Given the description of an element on the screen output the (x, y) to click on. 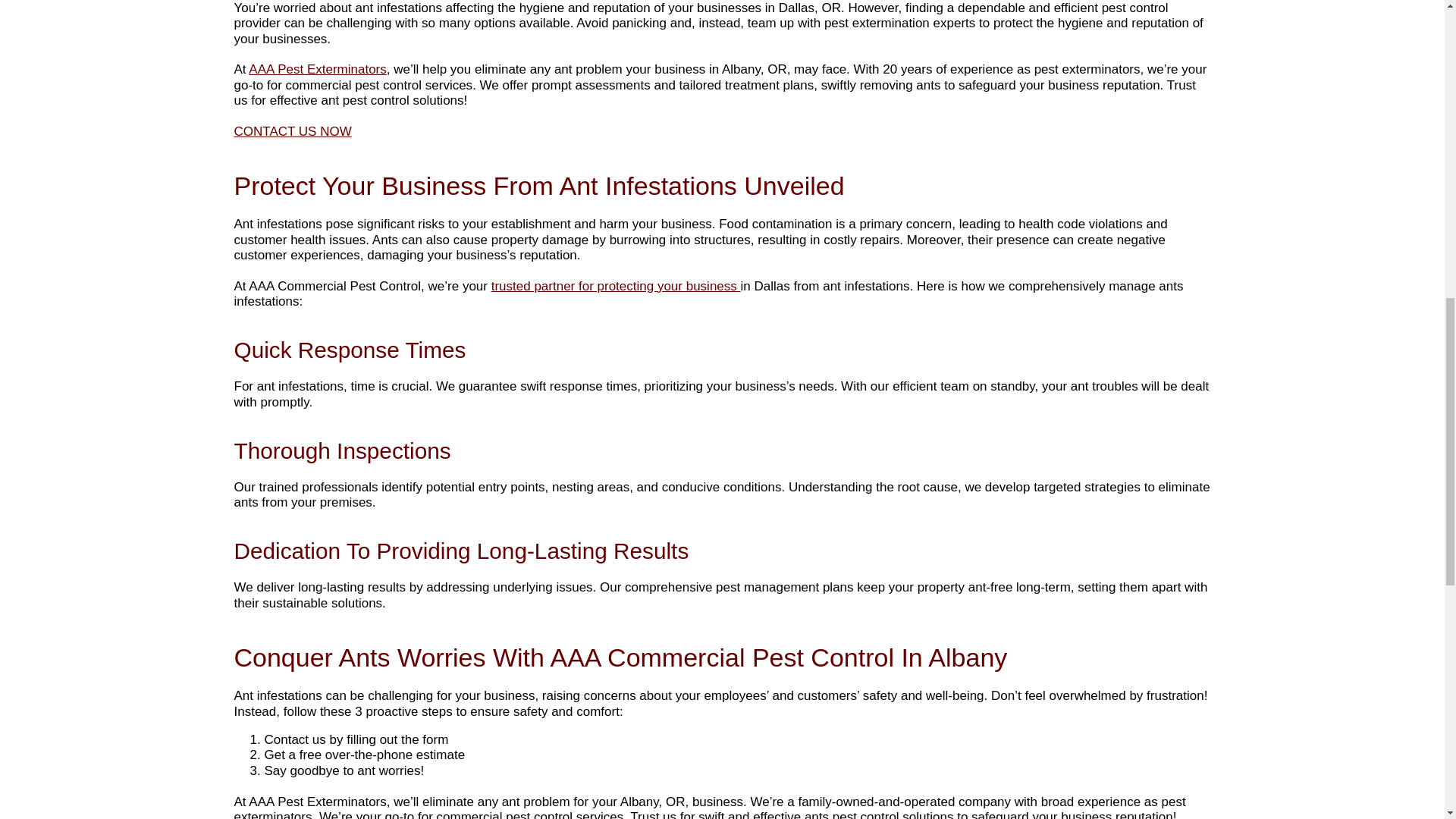
AAA Pest Exterminators (316, 69)
CONTACT US NOW (291, 131)
trusted partner for protecting your business (616, 286)
